Given the description of an element on the screen output the (x, y) to click on. 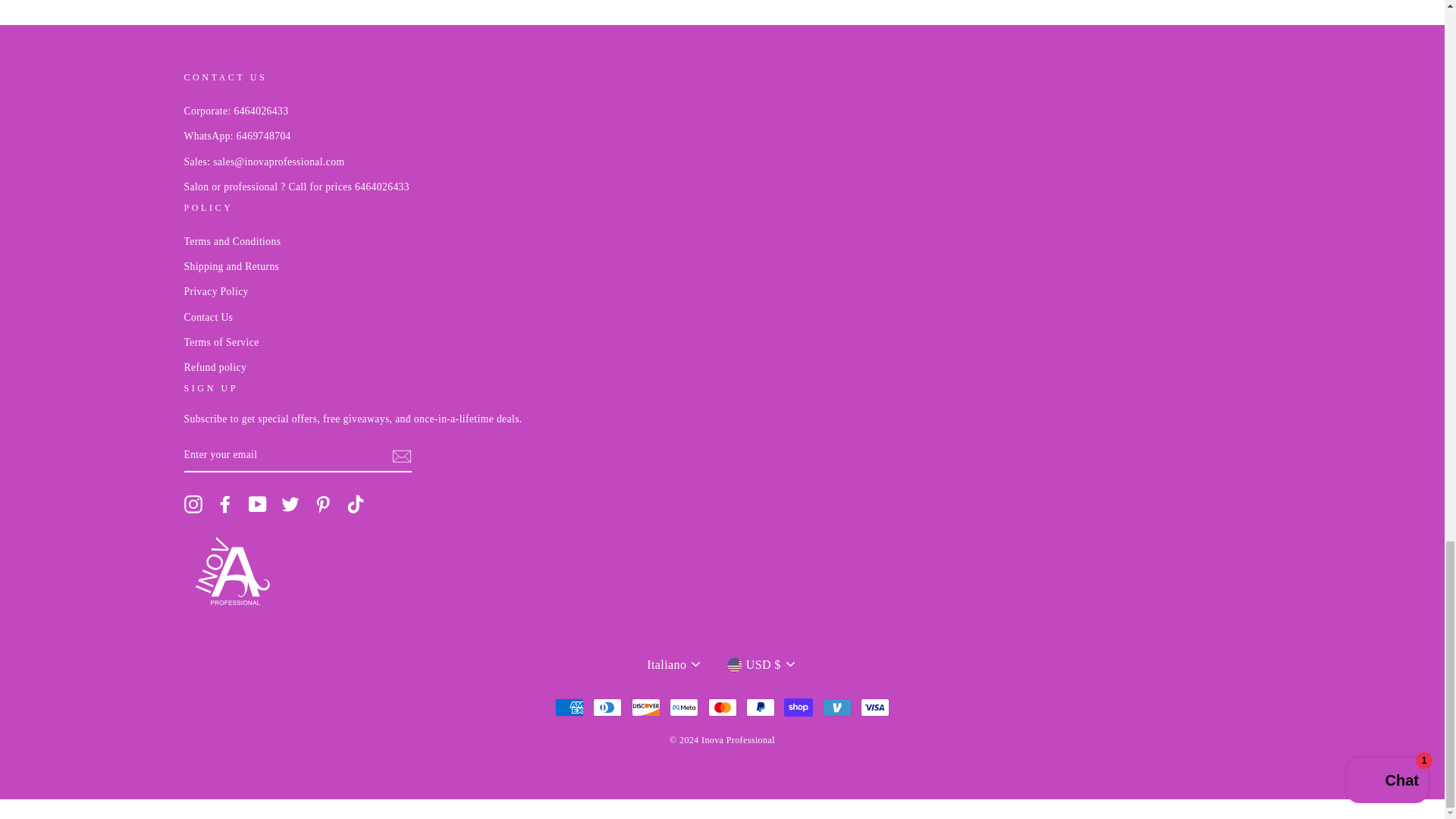
Inova Professional on Instagram (192, 504)
Inova Professional on Facebook (224, 504)
